Given the description of an element on the screen output the (x, y) to click on. 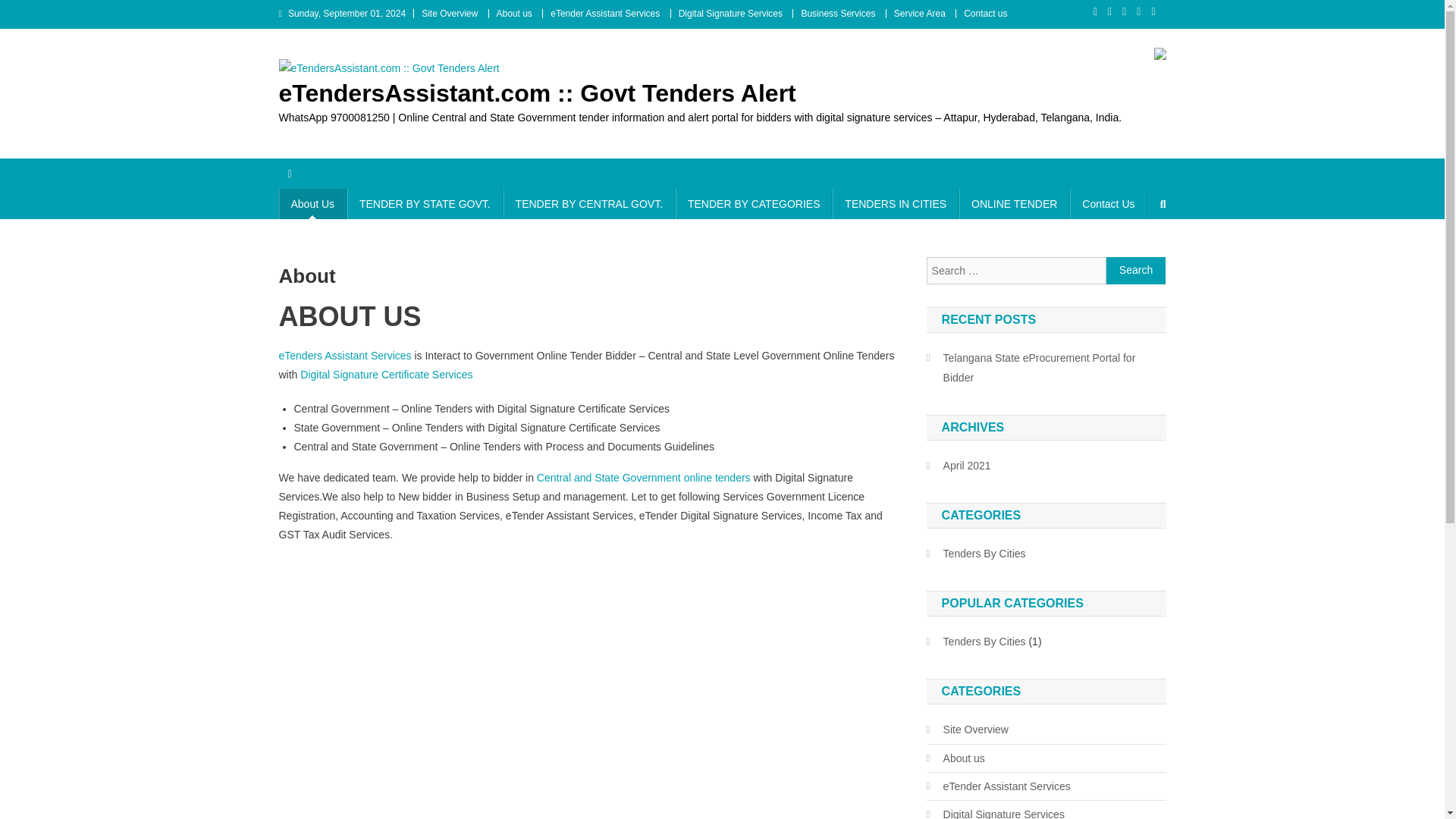
Business Services (837, 13)
Digital Signature Services (995, 811)
Digital Signature Certificate Services (385, 374)
Search (1136, 270)
Contact Us (1108, 204)
Contact us (985, 13)
Tenders By Cities (976, 641)
Search (1136, 270)
Site Overview (967, 729)
Telangana State eProcurement Portal for Bidder (1046, 367)
